Given the description of an element on the screen output the (x, y) to click on. 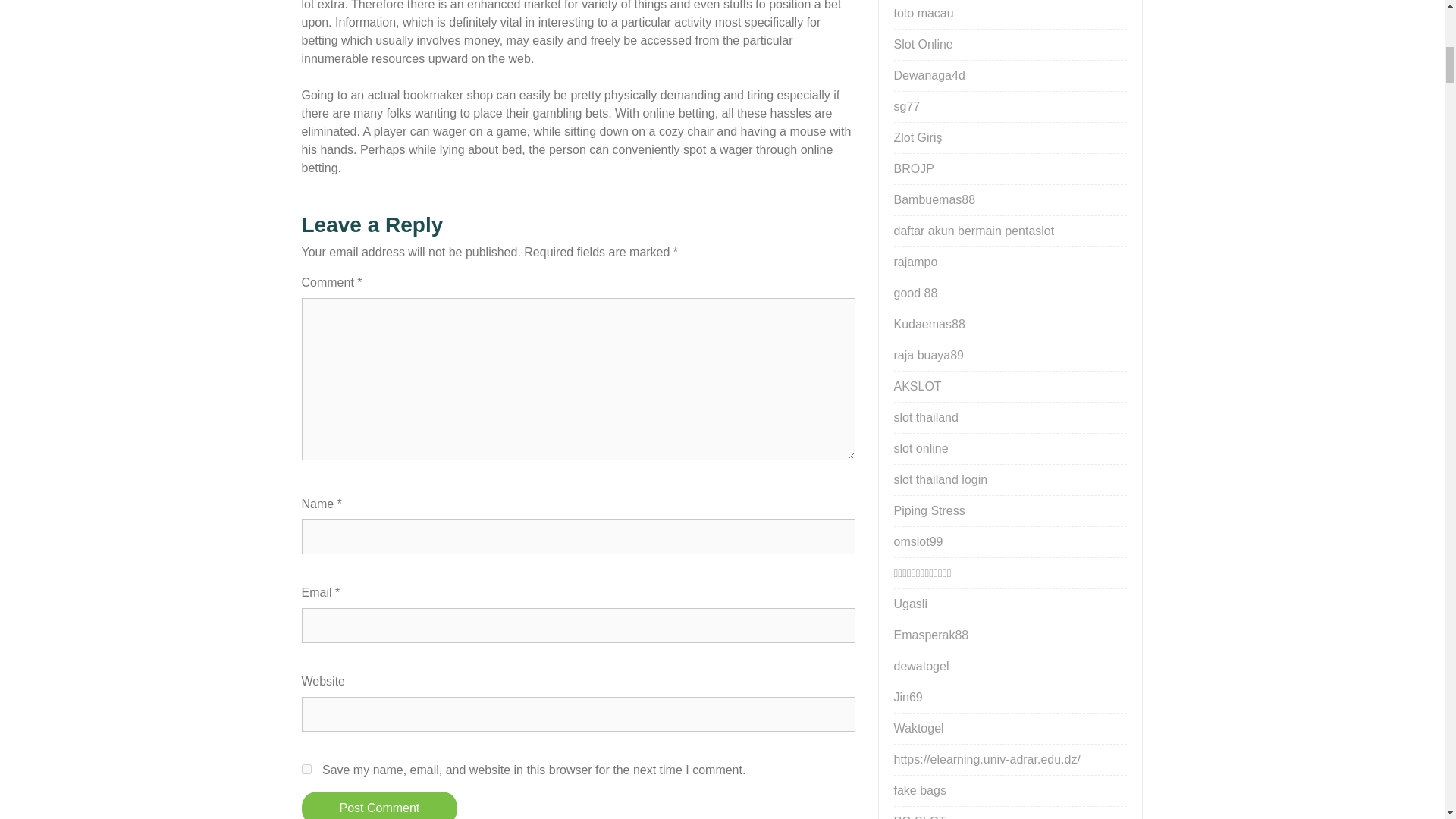
daftar akun bermain pentaslot (973, 230)
Piping Stress (928, 510)
AKSLOT (916, 386)
omslot99 (917, 541)
dewatogel (921, 666)
Dewanaga4d (928, 74)
Bambuemas88 (934, 199)
raja buaya89 (928, 354)
sg77 (906, 106)
rajampo (915, 261)
Slot Online (922, 43)
toto macau (923, 12)
slot thailand login (940, 479)
slot thailand (925, 417)
Kudaemas88 (928, 323)
